Given the description of an element on the screen output the (x, y) to click on. 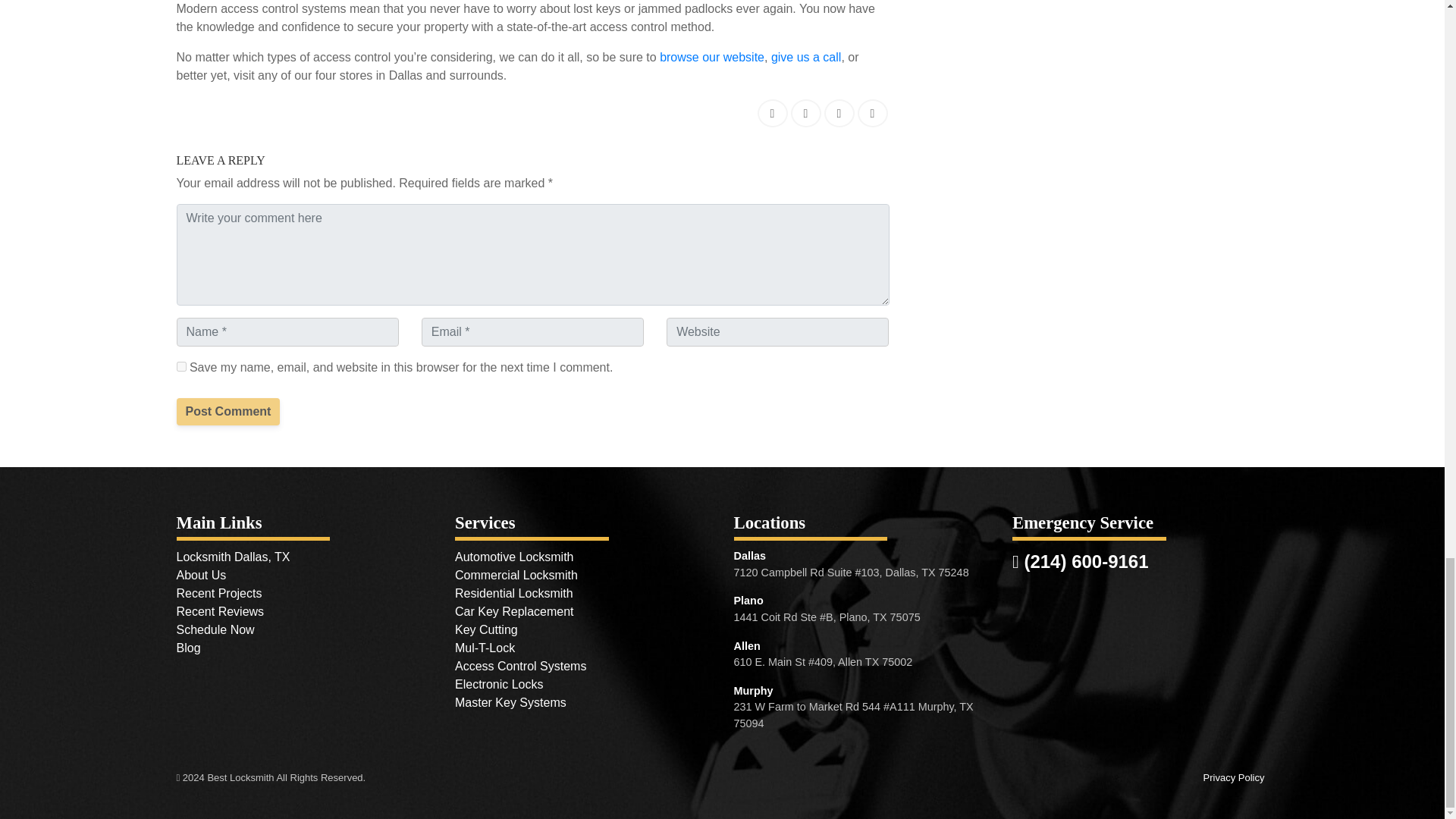
Share this via Linkedin (805, 113)
yes (181, 366)
Post Comment (227, 411)
Share this via Email (871, 113)
Share this via Facebook (772, 113)
Share this via Twitter (838, 113)
